Given the description of an element on the screen output the (x, y) to click on. 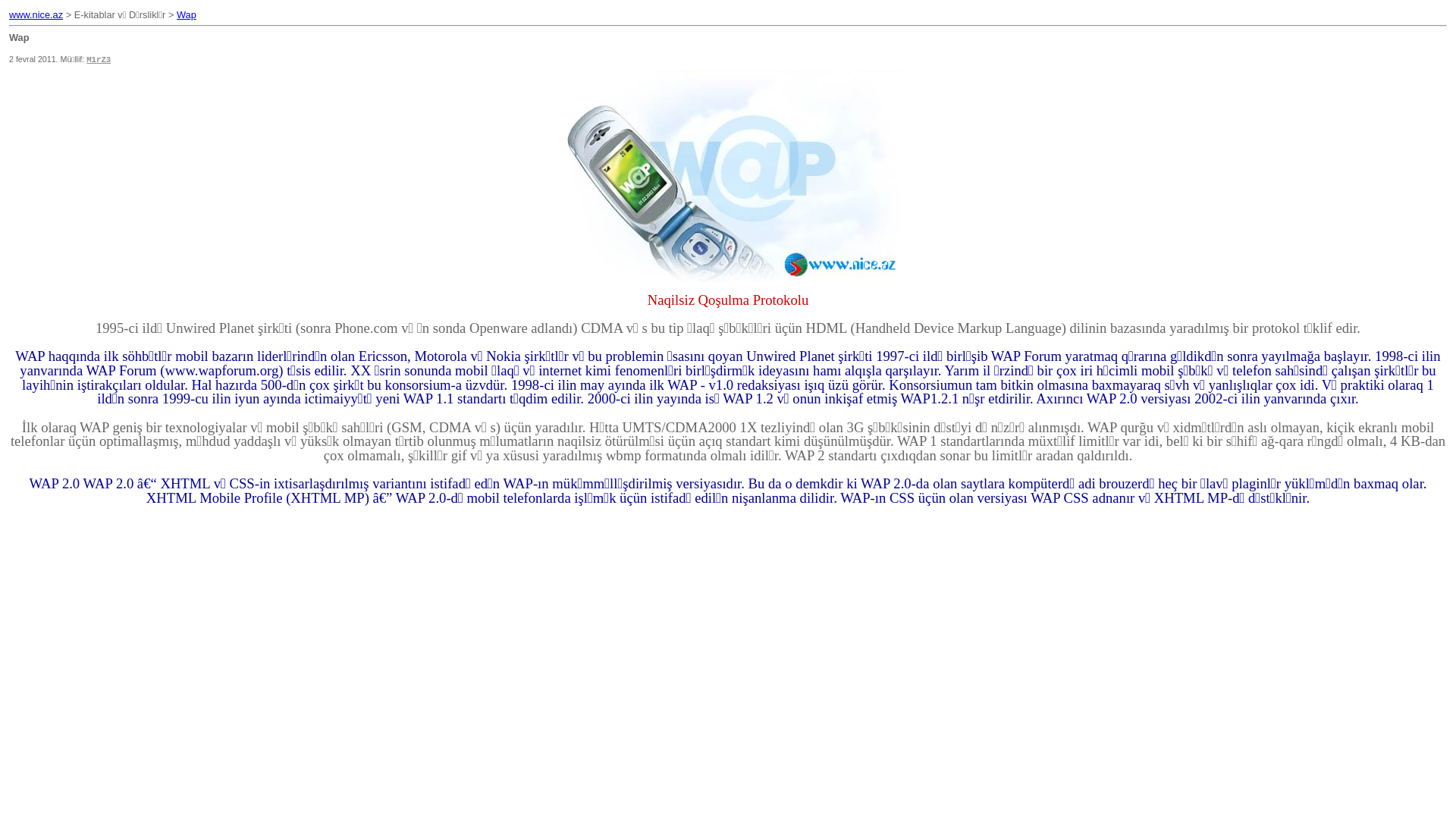
www.nice.az Element type: text (35, 14)
Wap Element type: hover (727, 175)
M1rZ3 Element type: text (98, 59)
Wap Element type: text (186, 14)
